Given the description of an element on the screen output the (x, y) to click on. 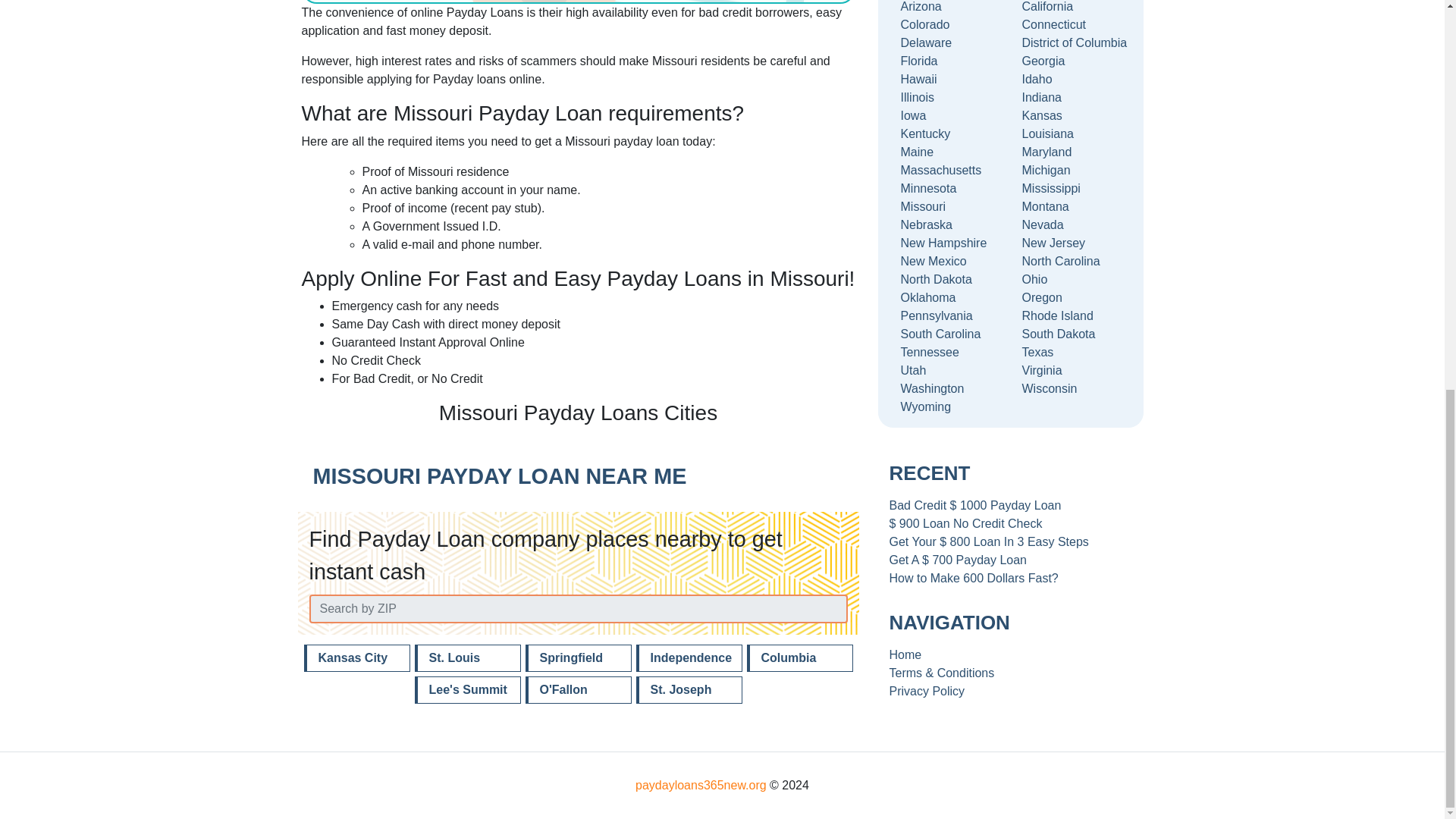
Payday Loan in O'Fallon (577, 689)
Illinois (949, 97)
Colorado (949, 24)
Georgia (1070, 61)
Connecticut (1070, 24)
Independence (687, 657)
Idaho (1070, 79)
Kansas City (355, 657)
Payday Loan in St. Joseph (687, 689)
Indiana (1070, 97)
Payday Loan in St. Louis (466, 657)
Delaware (949, 43)
District of Columbia (1070, 43)
Lee's Summit (466, 689)
Arizona (949, 7)
